Given the description of an element on the screen output the (x, y) to click on. 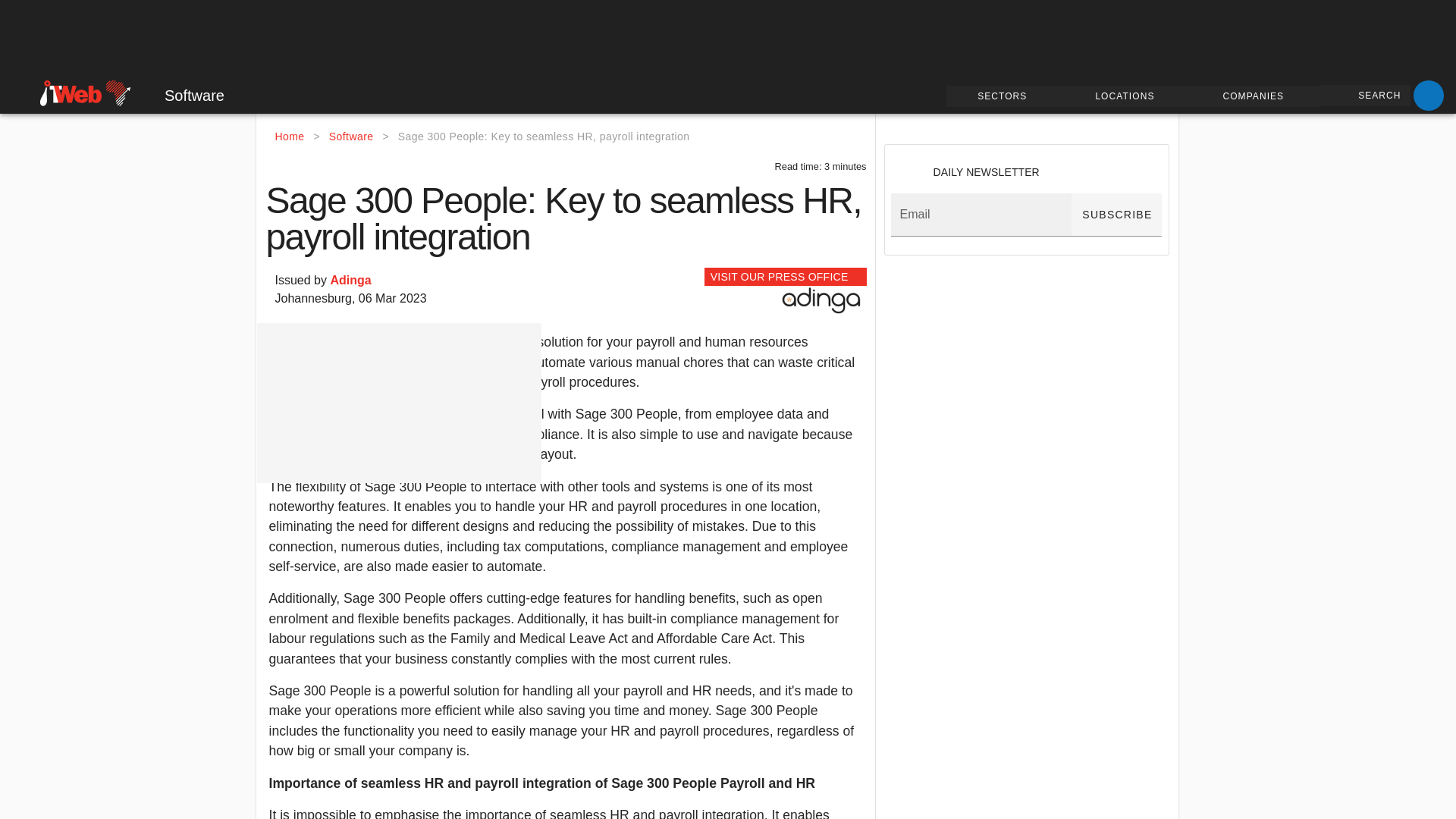
SOUTH AFRICA (53, 90)
LOCATIONS (1127, 96)
SEARCH (1365, 95)
Software (351, 136)
Software (183, 95)
Home (289, 136)
SUBSCRIBE (1116, 214)
VISIT OUR PRESS OFFICE (785, 276)
SECTORS (1005, 96)
COMPANIES (1255, 96)
